Given the description of an element on the screen output the (x, y) to click on. 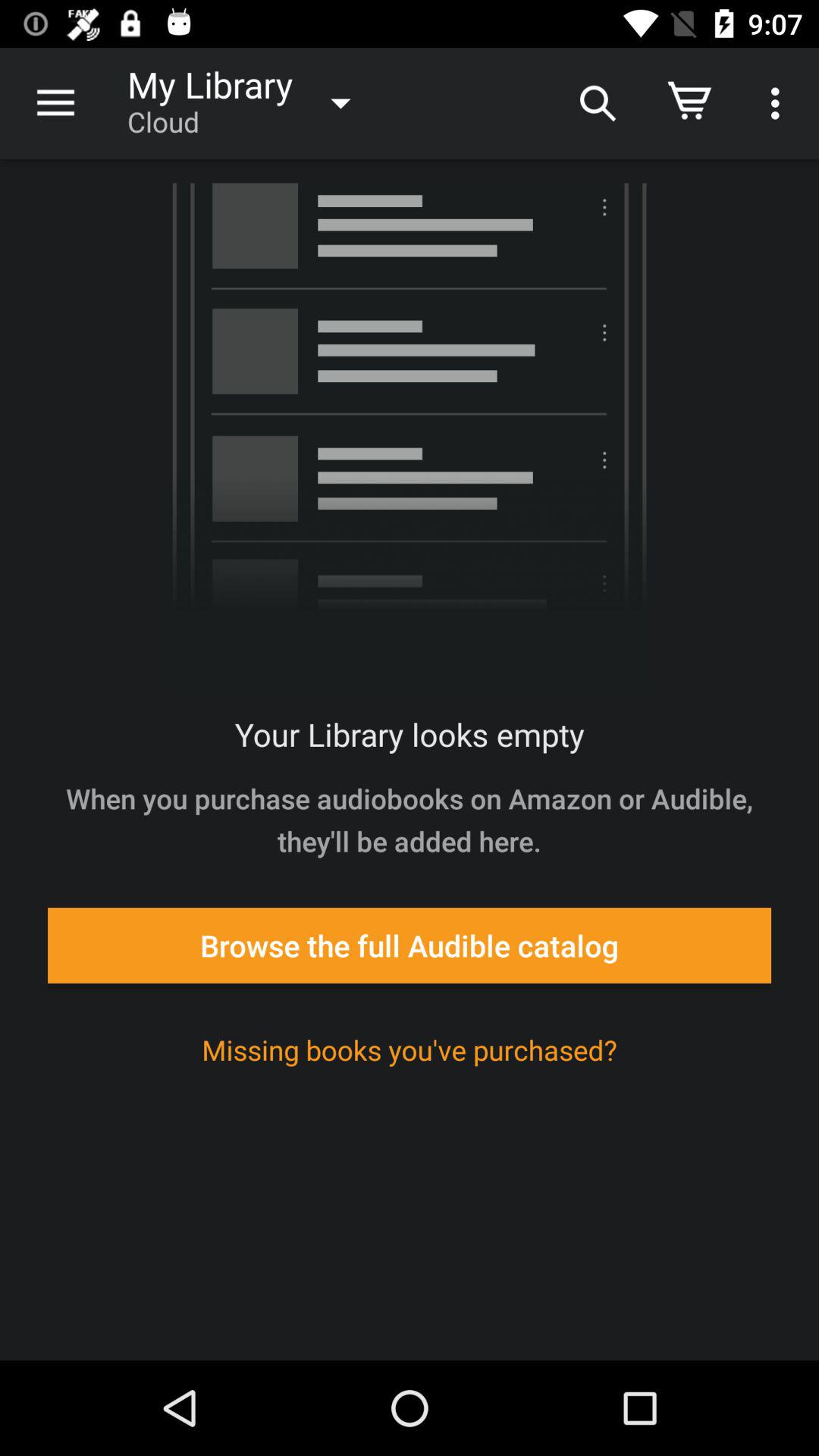
turn off item to the right of the my library icon (595, 103)
